Given the description of an element on the screen output the (x, y) to click on. 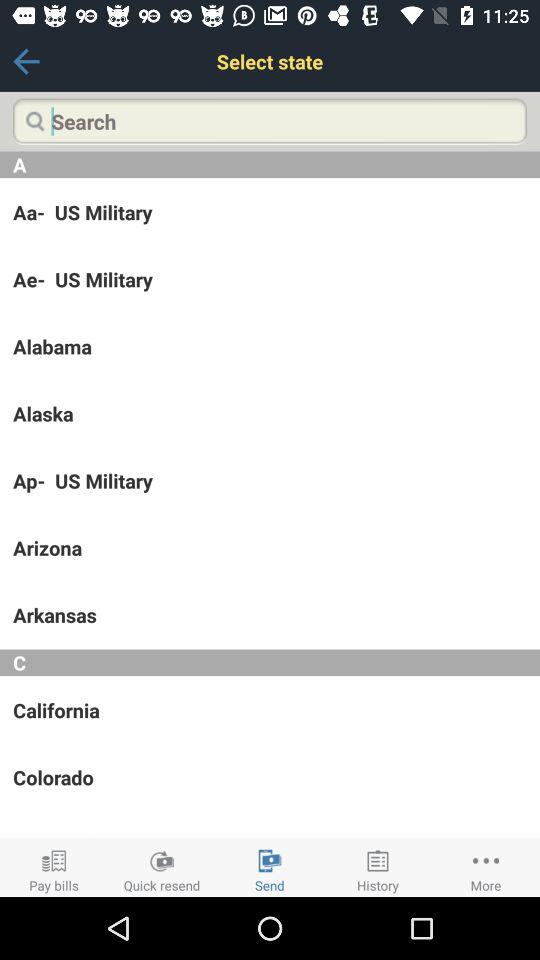
turn on the app above ap-  us military icon (270, 413)
